Given the description of an element on the screen output the (x, y) to click on. 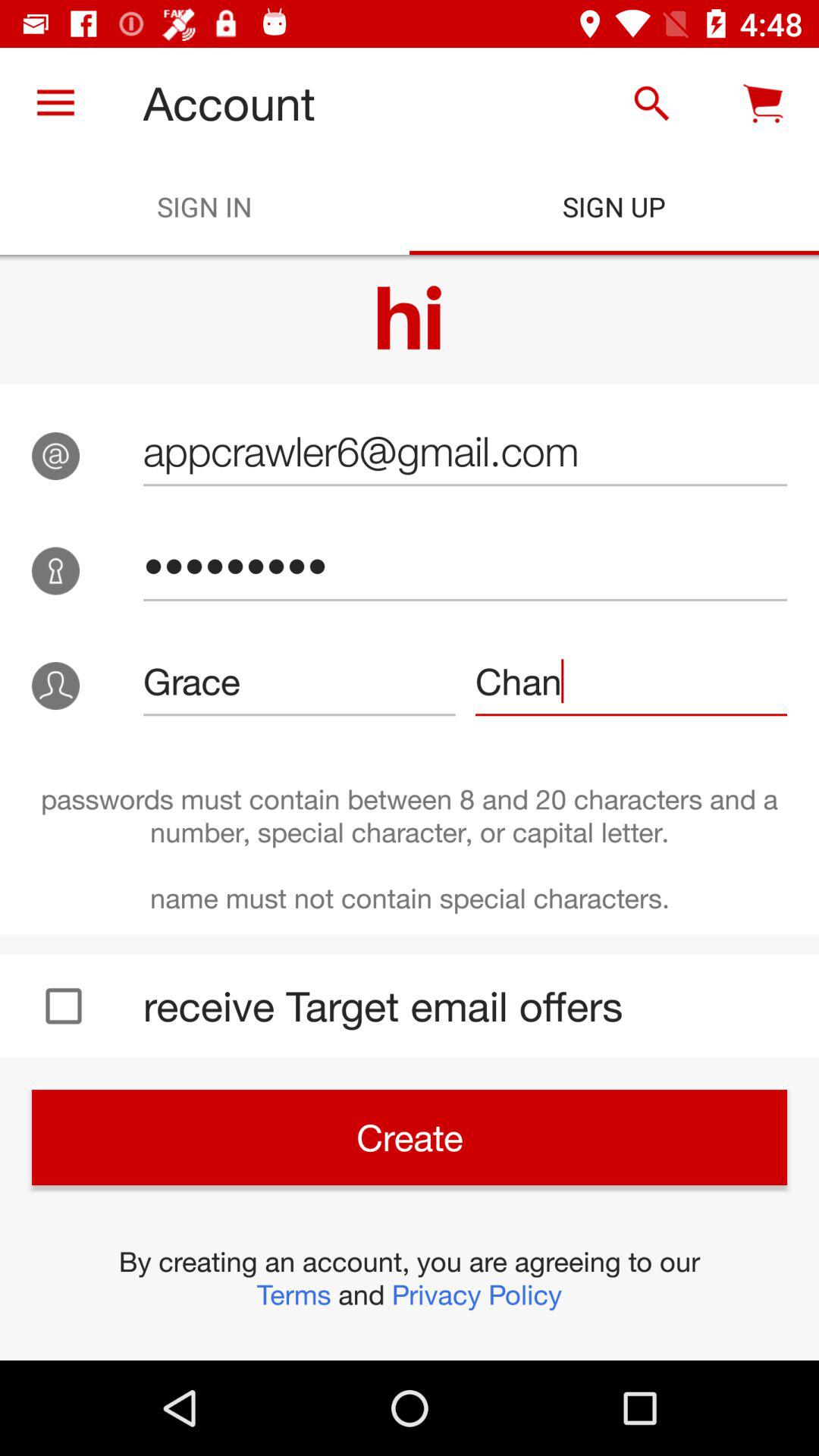
turn on the item next to the account icon (55, 103)
